Given the description of an element on the screen output the (x, y) to click on. 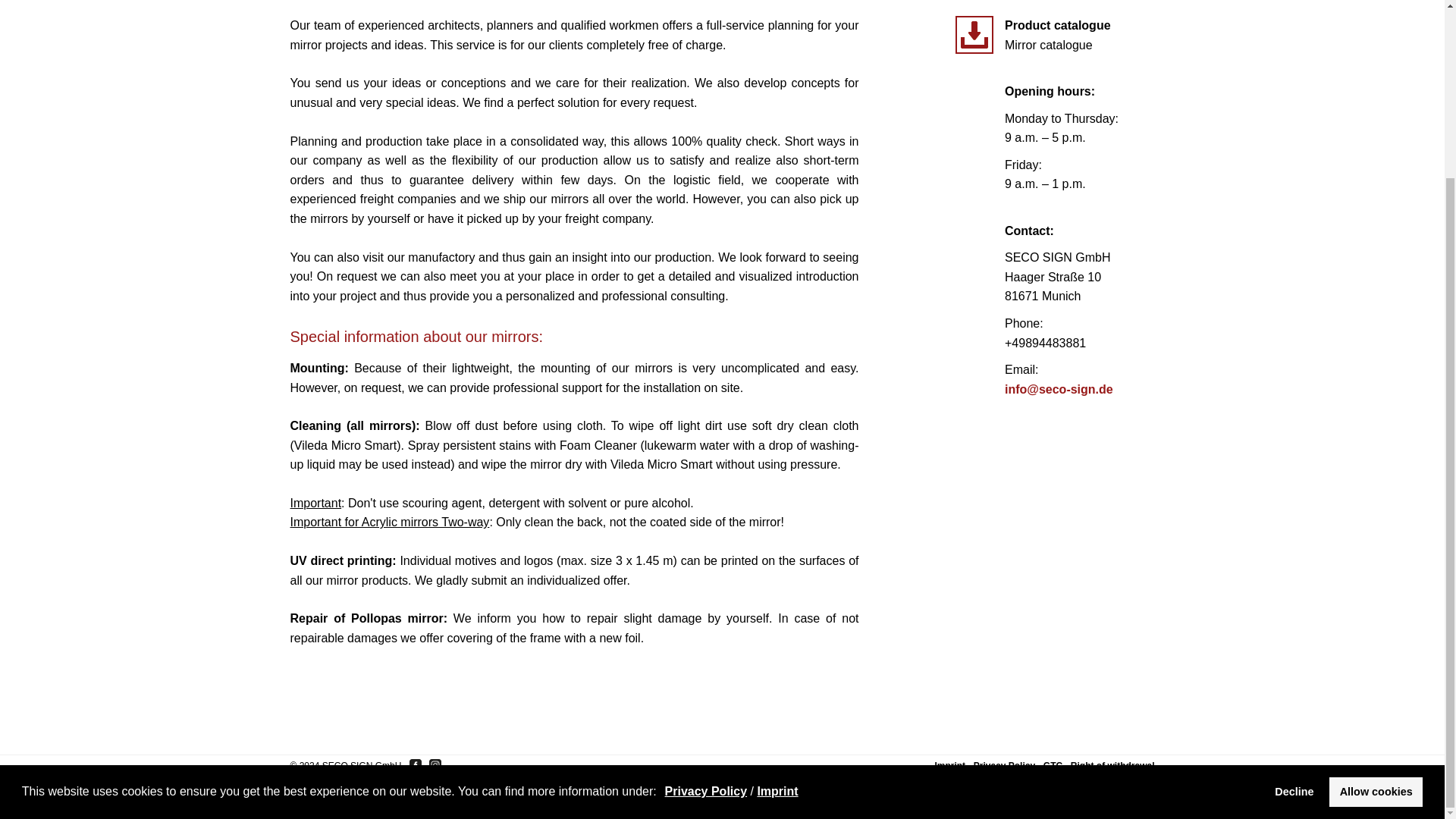
Facebook (415, 765)
Right of withdrawal (1112, 765)
Decline (1294, 573)
Privacy Policy (1004, 765)
Privacy Policy (706, 573)
GTC (1052, 765)
Imprint (949, 765)
Instagram (435, 765)
Facebook (415, 765)
Instagram (435, 765)
Imprint (777, 573)
Allow cookies (1375, 573)
